Given the description of an element on the screen output the (x, y) to click on. 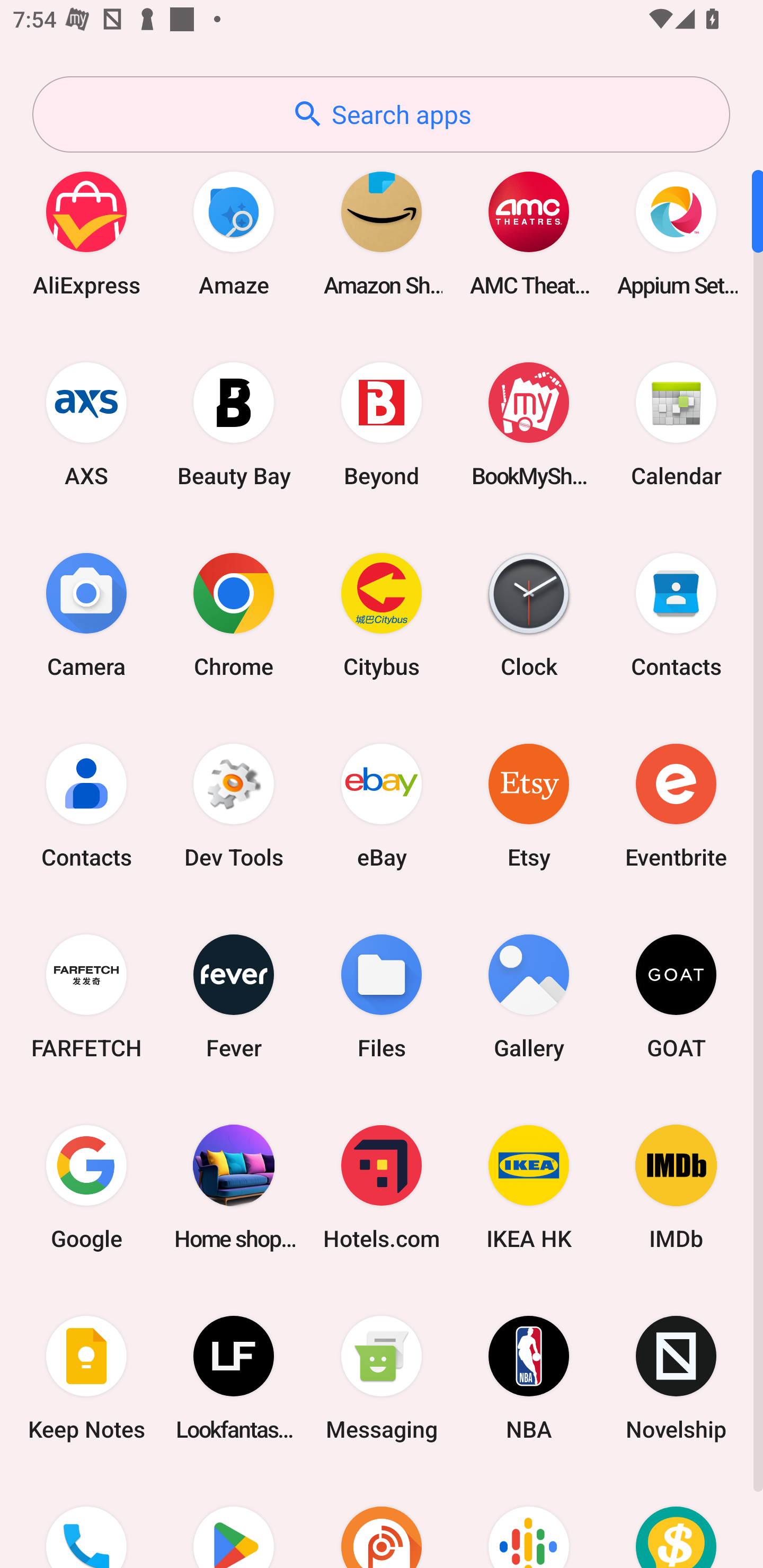
  Search apps (381, 114)
AliExpress (86, 233)
Amaze (233, 233)
Amazon Shopping (381, 233)
AMC Theatres (528, 233)
Appium Settings (676, 233)
AXS (86, 424)
Beauty Bay (233, 424)
Beyond (381, 424)
BookMyShow (528, 424)
Calendar (676, 424)
Camera (86, 614)
Chrome (233, 614)
Citybus (381, 614)
Clock (528, 614)
Contacts (676, 614)
Contacts (86, 805)
Dev Tools (233, 805)
eBay (381, 805)
Etsy (528, 805)
Eventbrite (676, 805)
FARFETCH (86, 996)
Fever (233, 996)
Files (381, 996)
Gallery (528, 996)
GOAT (676, 996)
Google (86, 1186)
Home shopping (233, 1186)
Hotels.com (381, 1186)
IKEA HK (528, 1186)
IMDb (676, 1186)
Keep Notes (86, 1377)
Lookfantastic (233, 1377)
Messaging (381, 1377)
NBA (528, 1377)
Novelship (676, 1377)
Phone (86, 1520)
Play Store (233, 1520)
Podcast Addict (381, 1520)
Podcasts (528, 1520)
Price (676, 1520)
